Given the description of an element on the screen output the (x, y) to click on. 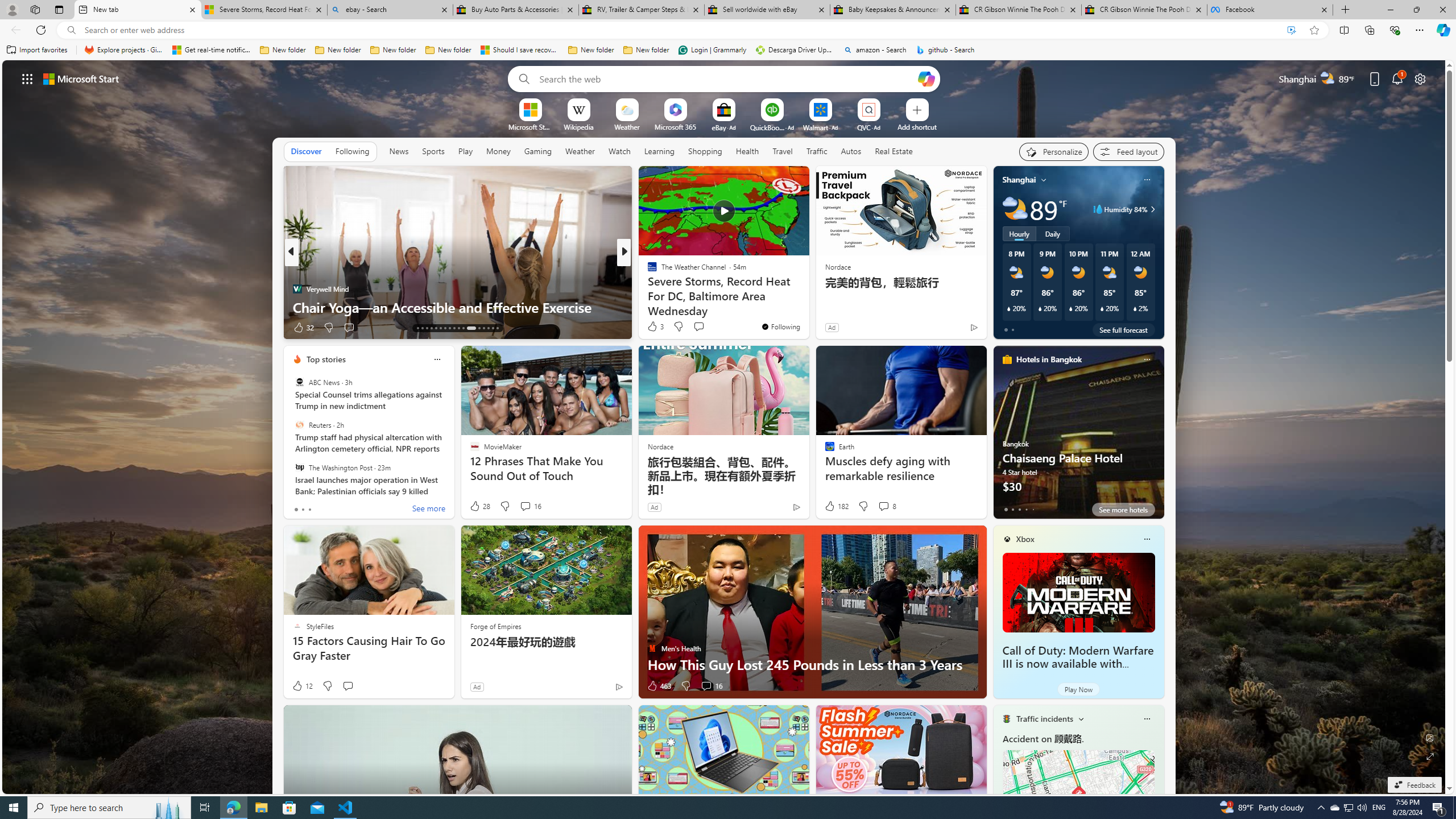
Microsoft start (81, 78)
32 Like (303, 327)
Autos (851, 151)
View comments 1 Comment (705, 327)
AutomationID: tab-19 (444, 328)
